Given the description of an element on the screen output the (x, y) to click on. 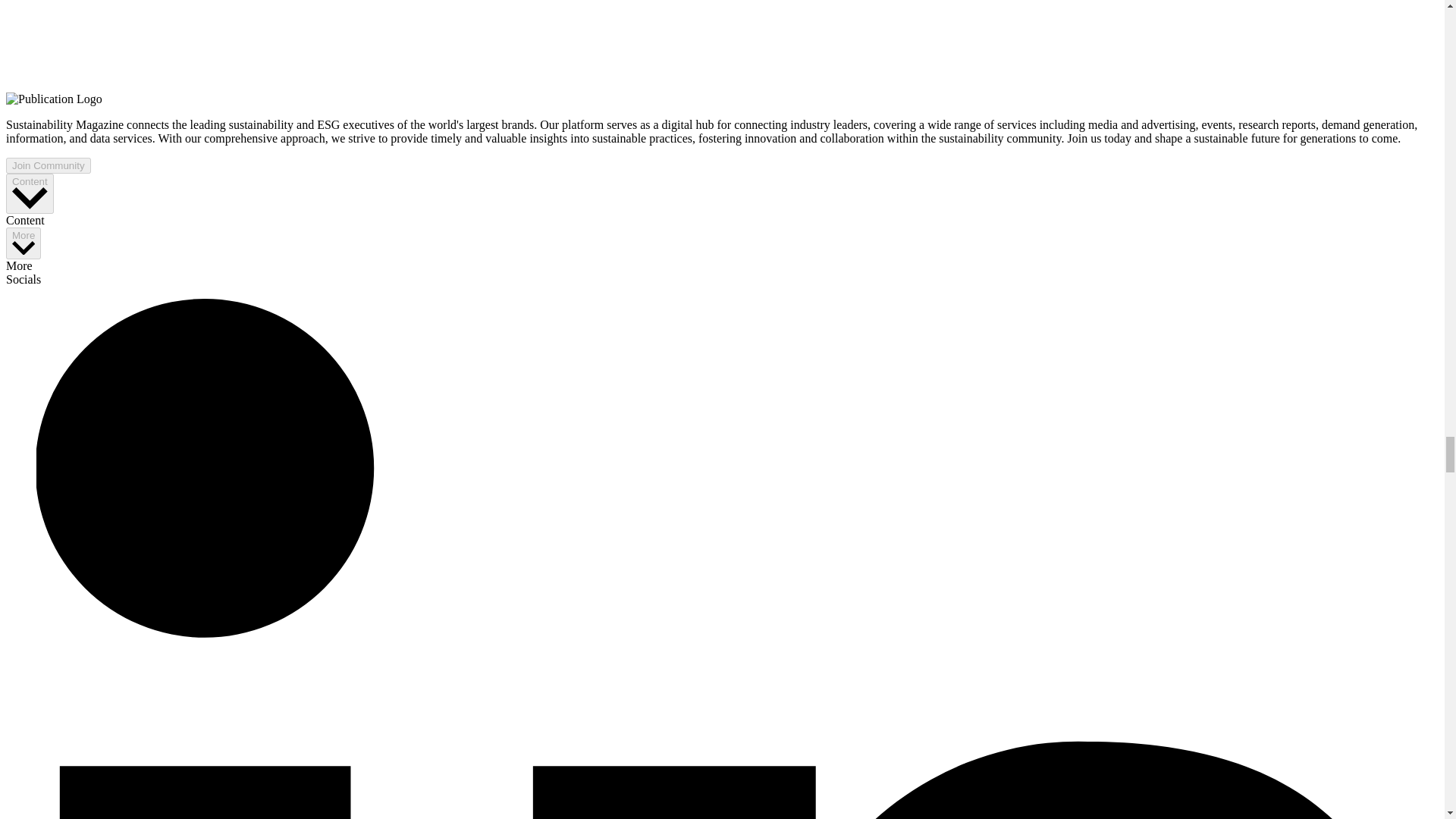
Join Community (47, 165)
Content (29, 193)
